Given the description of an element on the screen output the (x, y) to click on. 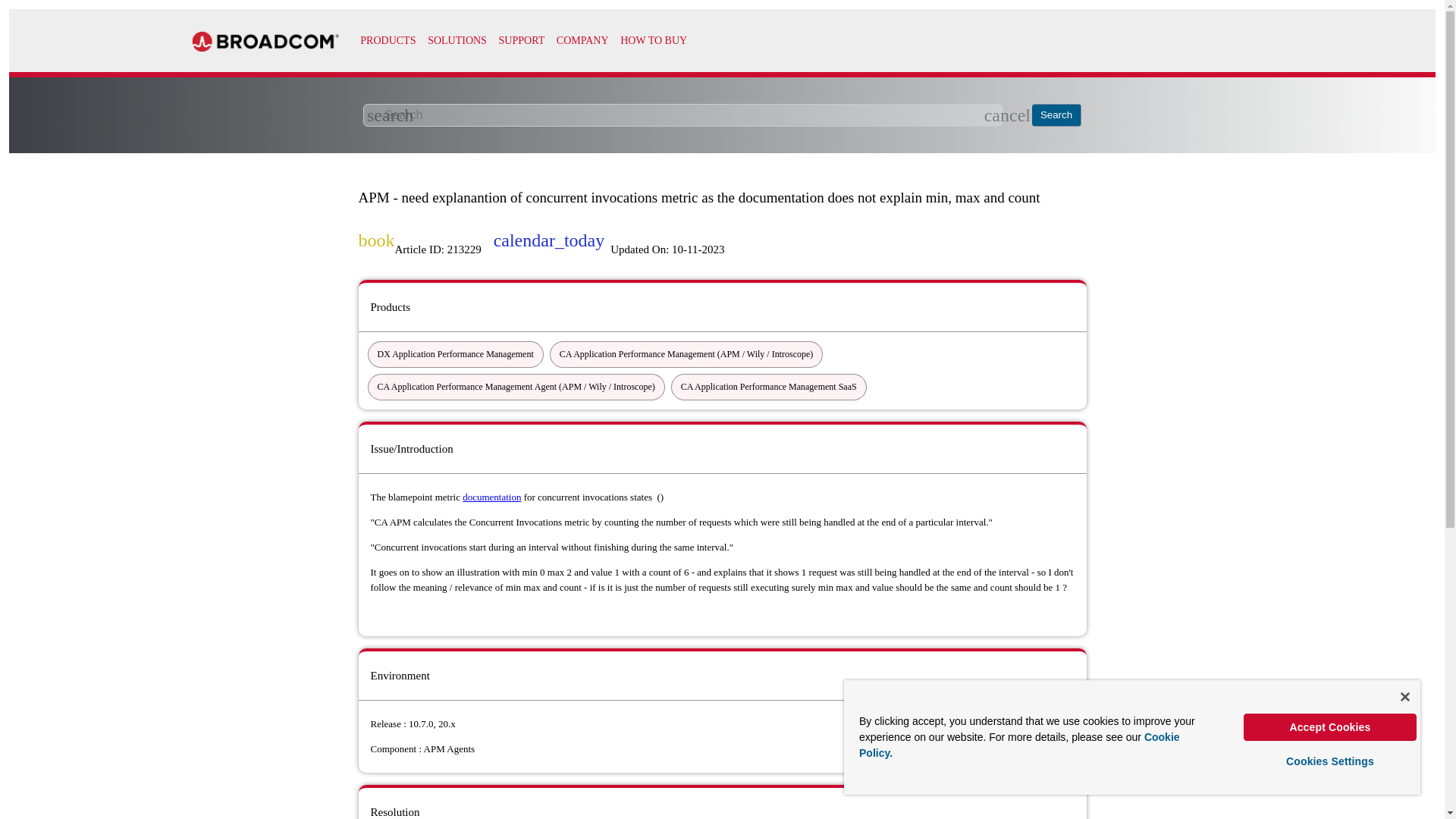
Cookie Policy. (1019, 745)
Cookies Settings (1329, 760)
Accept Cookies (1329, 727)
documentation (492, 496)
Search (1056, 115)
